Given the description of an element on the screen output the (x, y) to click on. 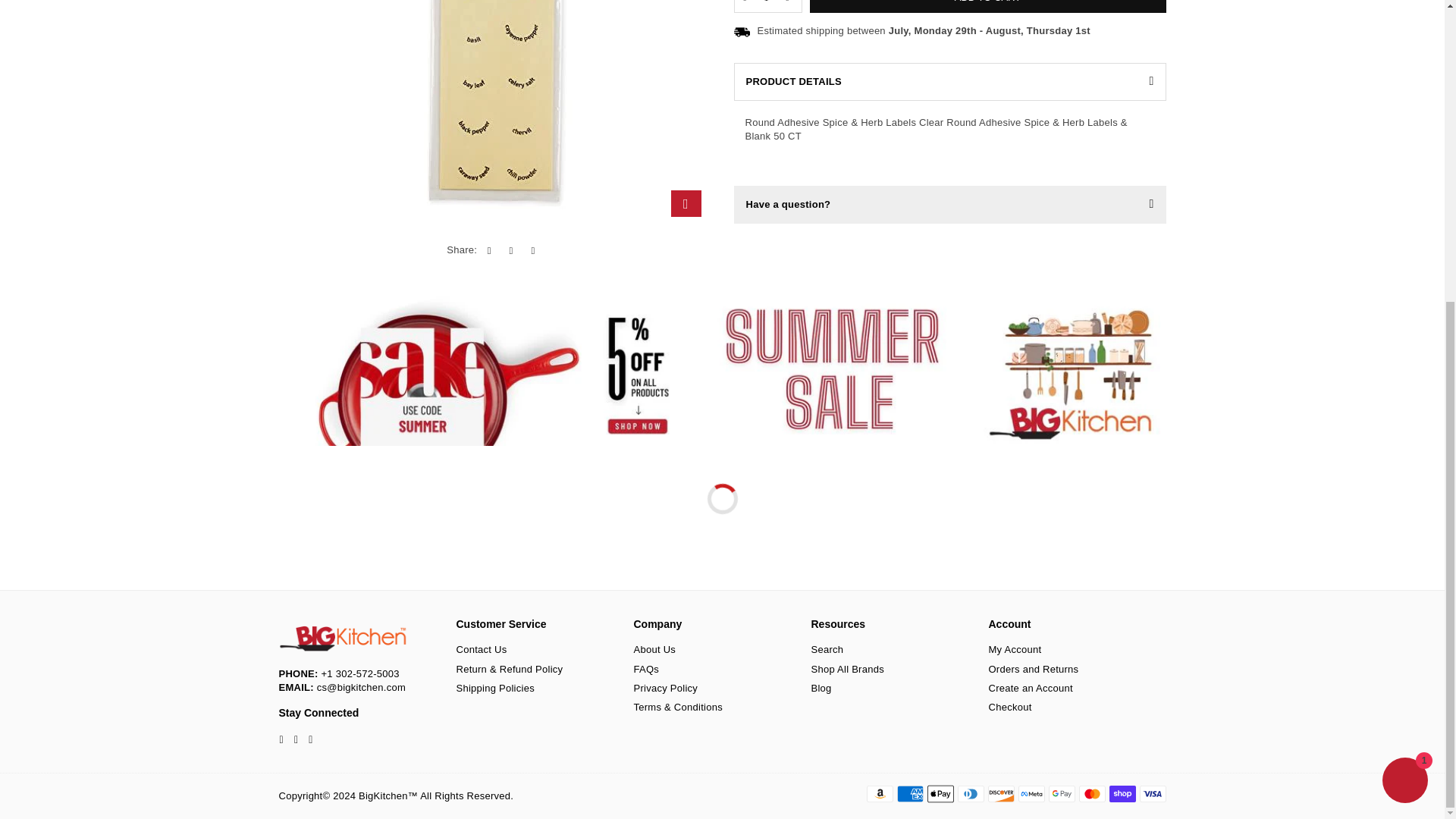
Diners Club (970, 793)
Google Pay (1061, 793)
1 (765, 6)
Quantity (767, 6)
Tweet on Twitter (510, 92)
Share on Facebook (489, 92)
Amazon (879, 793)
BigKitchen on Pinterest (295, 739)
Mastercard (1091, 793)
American Express (909, 793)
Shop Pay (1121, 793)
Meta Pay (1030, 793)
Discover (1000, 793)
Shopify online store chat (1404, 311)
Apple Pay (939, 793)
